Given the description of an element on the screen output the (x, y) to click on. 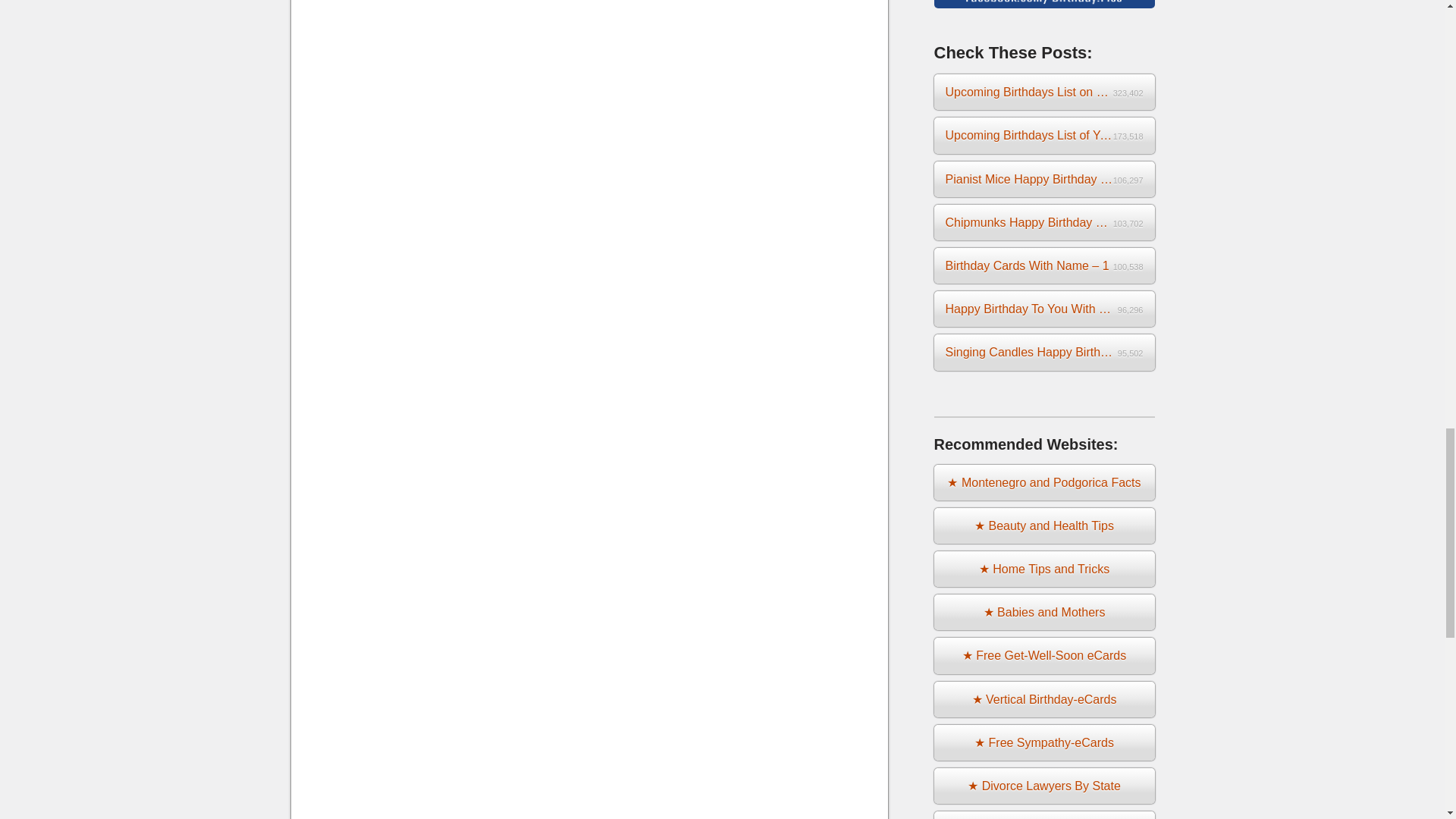
Upcoming Birthdays List on Facebook 2024 (1044, 91)
Upcoming Birthdays List of Your Facebook Friends (1044, 135)
Pianist Mice Happy Birthday Song on the Piano (1044, 179)
